Given the description of an element on the screen output the (x, y) to click on. 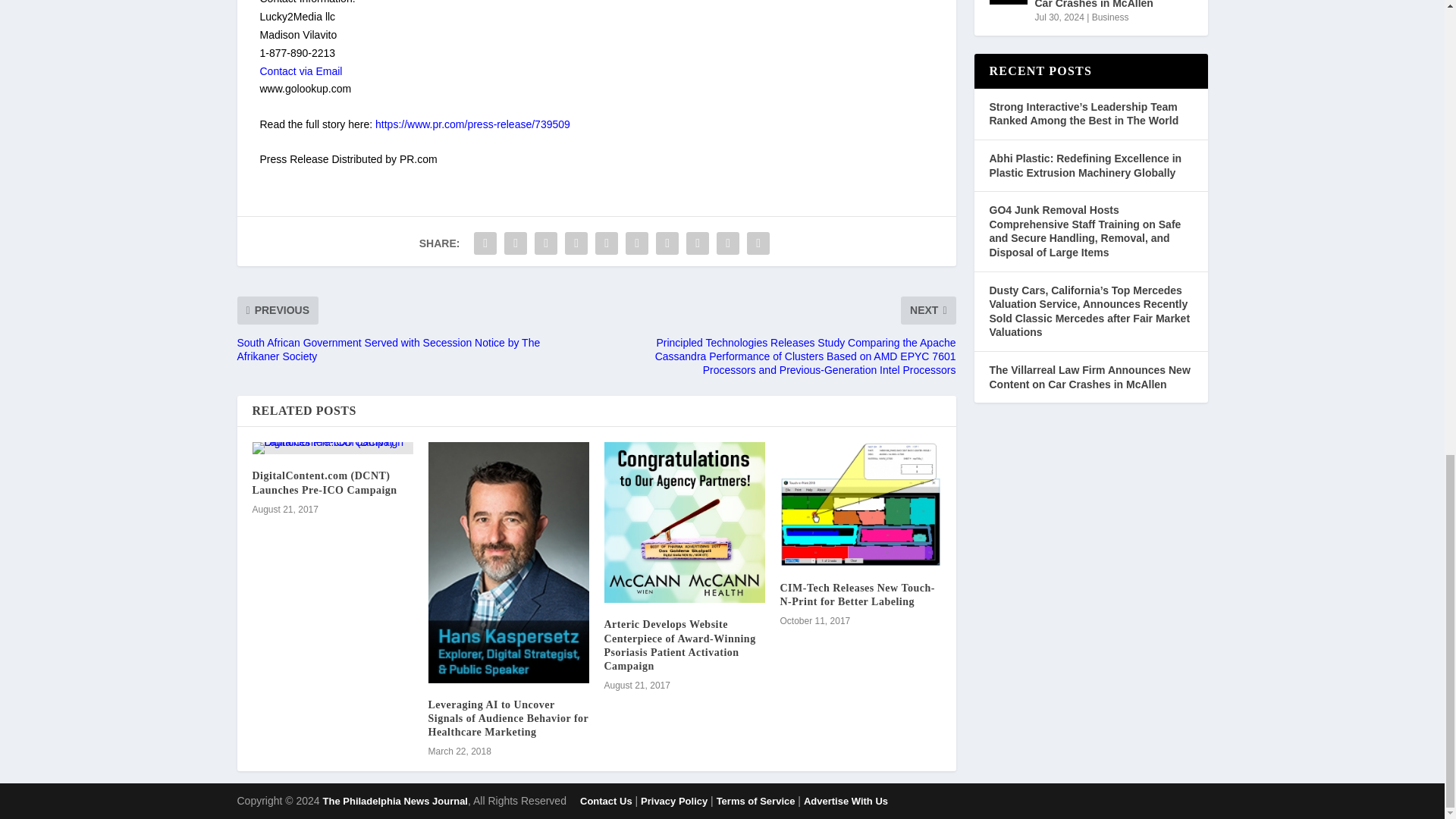
CIM-Tech Releases New Touch-N-Print for Better Labeling (859, 504)
Contact via Email (300, 70)
